Given the description of an element on the screen output the (x, y) to click on. 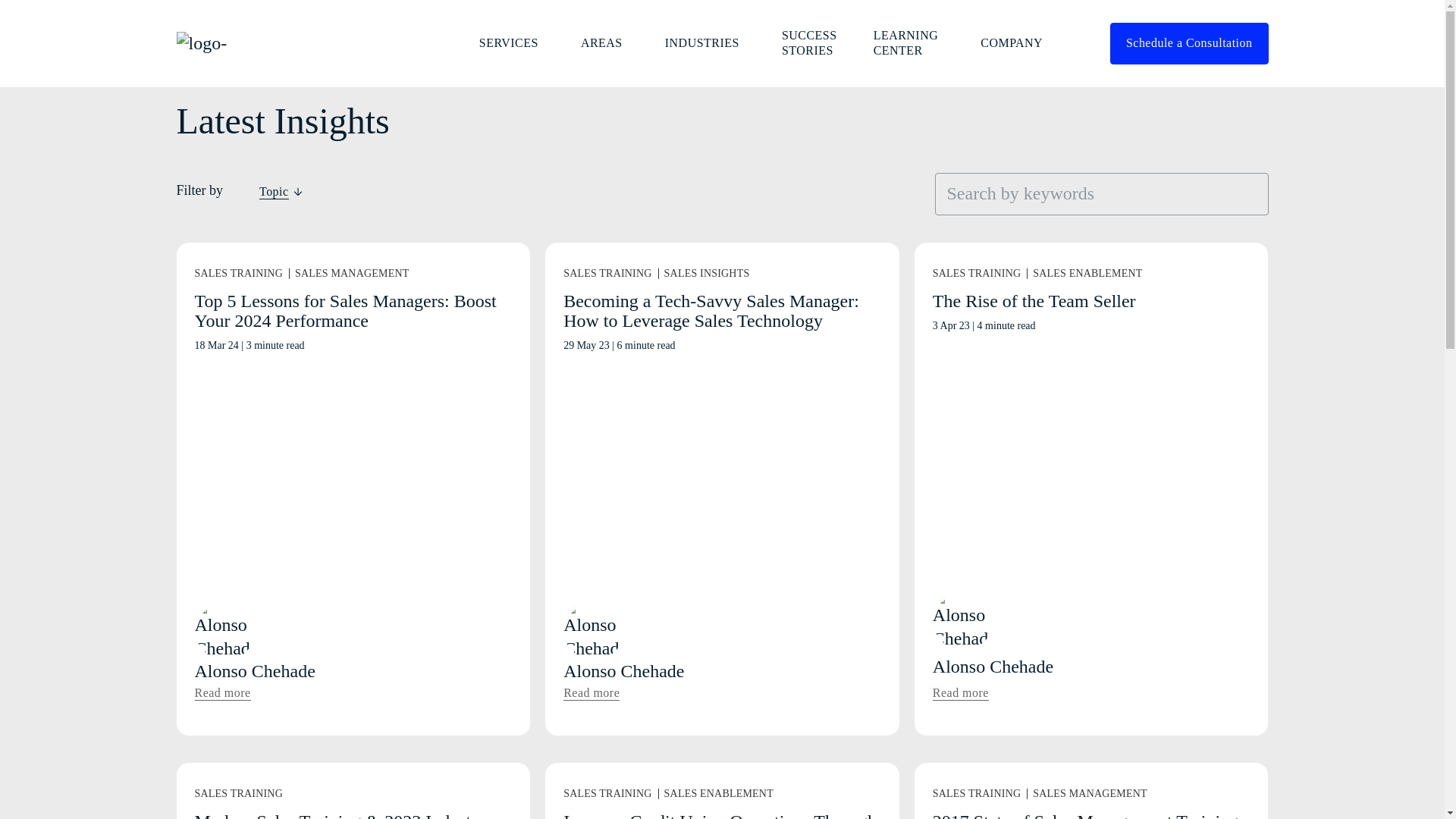
SERVICES (511, 42)
INDUSTRIES (705, 42)
AREAS (604, 42)
COMPANY (1014, 42)
LEARNING CENTER (908, 43)
